Given the description of an element on the screen output the (x, y) to click on. 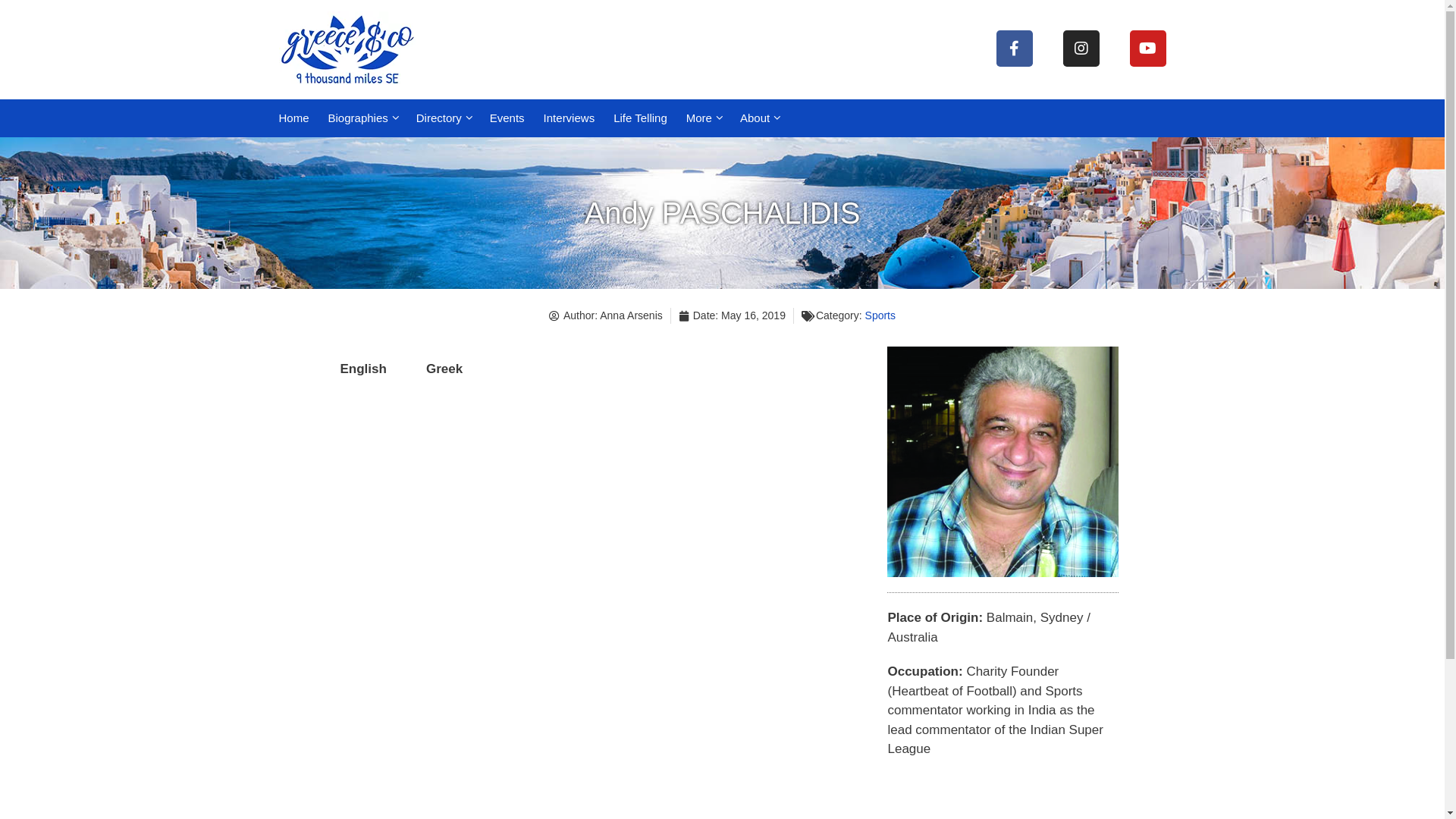
Interviews Element type: text (567, 118)
Home Element type: text (291, 118)
More Element type: text (701, 118)
Events Element type: text (505, 118)
Biographies Element type: text (360, 118)
Life Telling Element type: text (638, 118)
Directory Element type: text (441, 118)
Sports Element type: text (880, 315)
About Element type: text (757, 118)
